Given the description of an element on the screen output the (x, y) to click on. 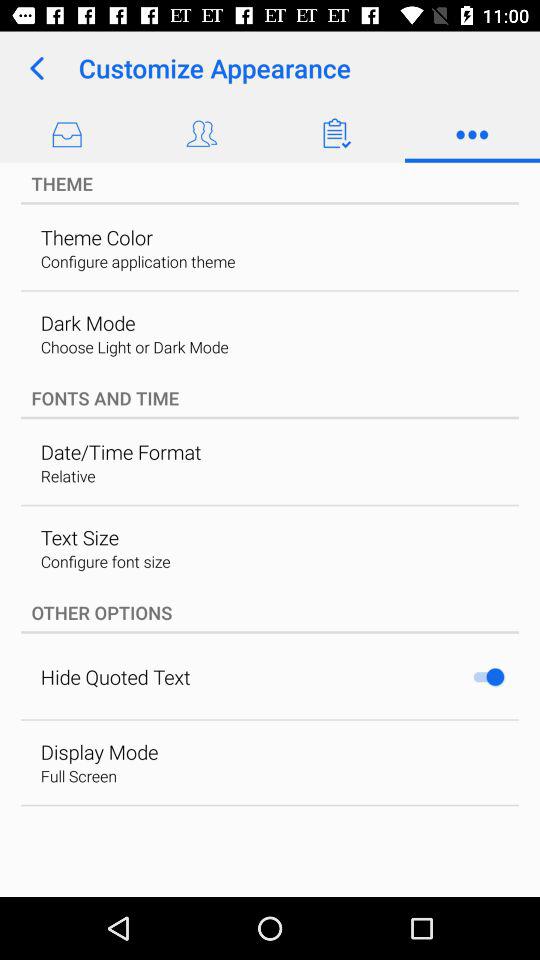
launch the icon to the right of hide quoted text item (488, 676)
